Given the description of an element on the screen output the (x, y) to click on. 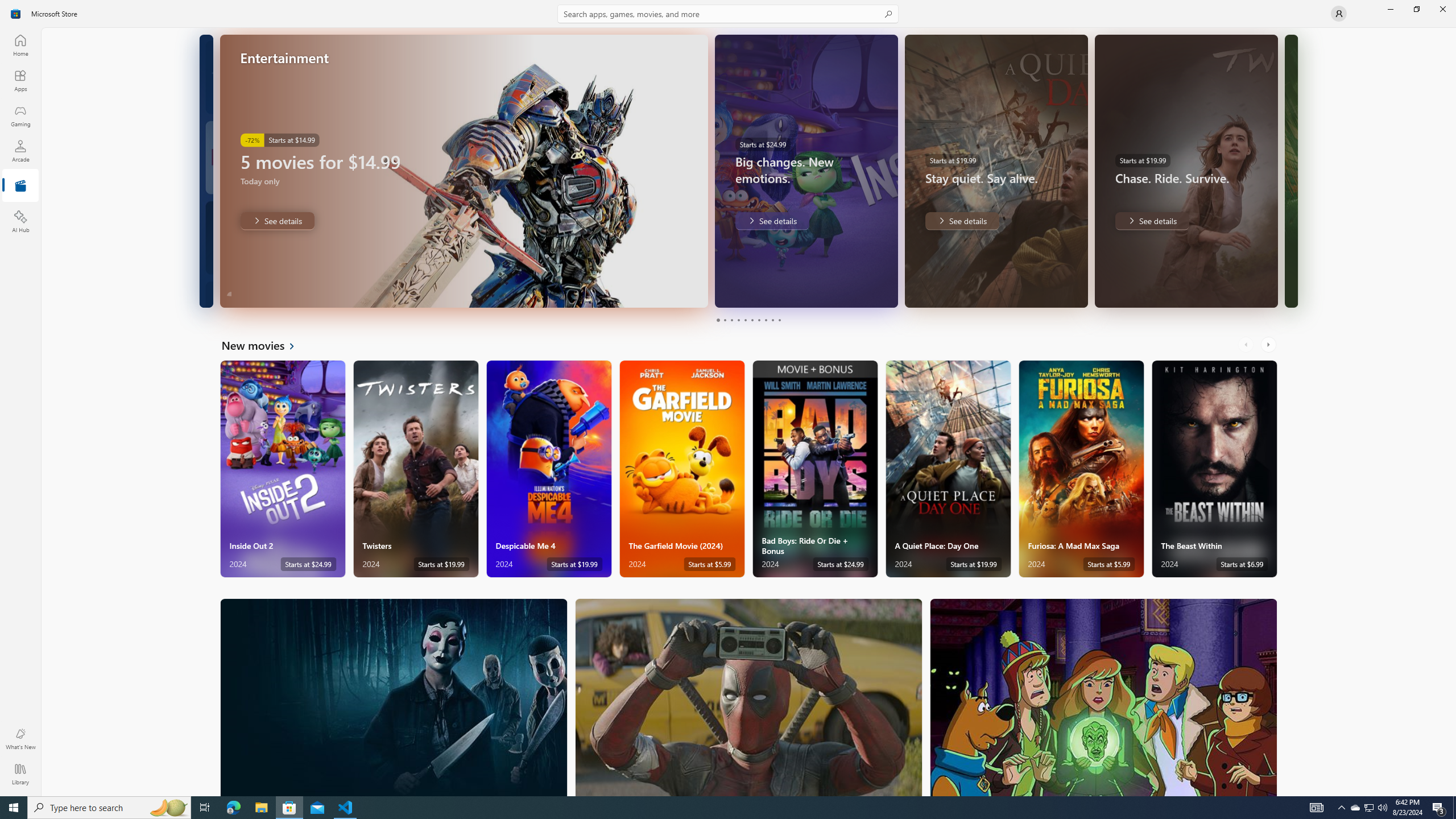
AutomationID: Image (1290, 170)
Page 1 (717, 319)
Page 4 (738, 319)
Arcade (20, 150)
Unmute (881, 291)
AutomationID: NavigationControl (728, 398)
Page 7 (758, 319)
See all  New movies (264, 345)
Search (727, 13)
Action & Adventure (749, 697)
